Given the description of an element on the screen output the (x, y) to click on. 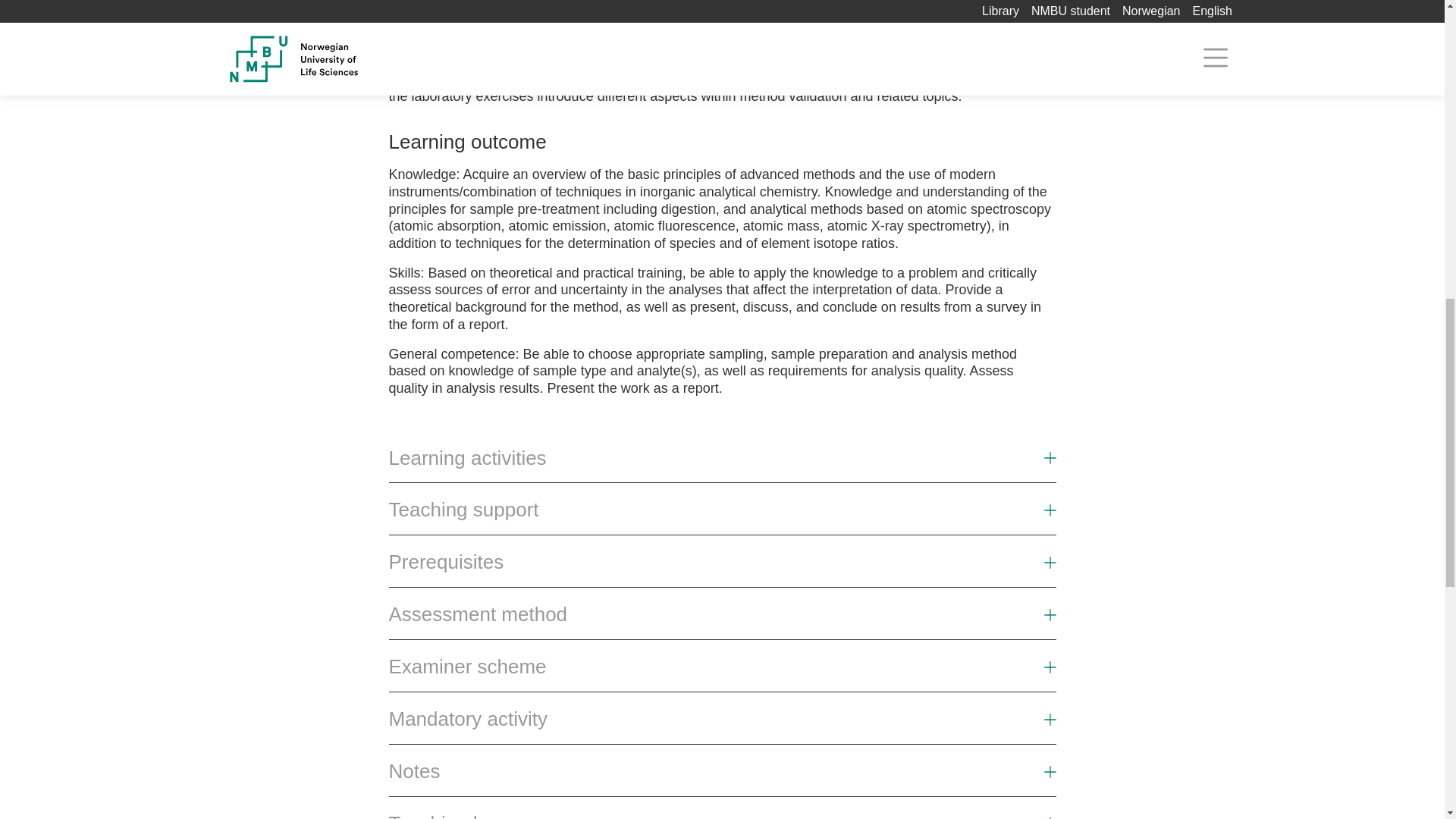
Assessment method (477, 614)
Notes (413, 771)
Mandatory activity (467, 719)
Notes (721, 777)
Examiner scheme (467, 666)
Prerequisites (445, 561)
Teaching support (721, 515)
Examiner scheme (721, 672)
Learning activities (721, 464)
Mandatory activity (721, 724)
Teaching hours (454, 815)
Assessment method (721, 620)
Prerequisites (721, 568)
Teaching support (463, 509)
